Given the description of an element on the screen output the (x, y) to click on. 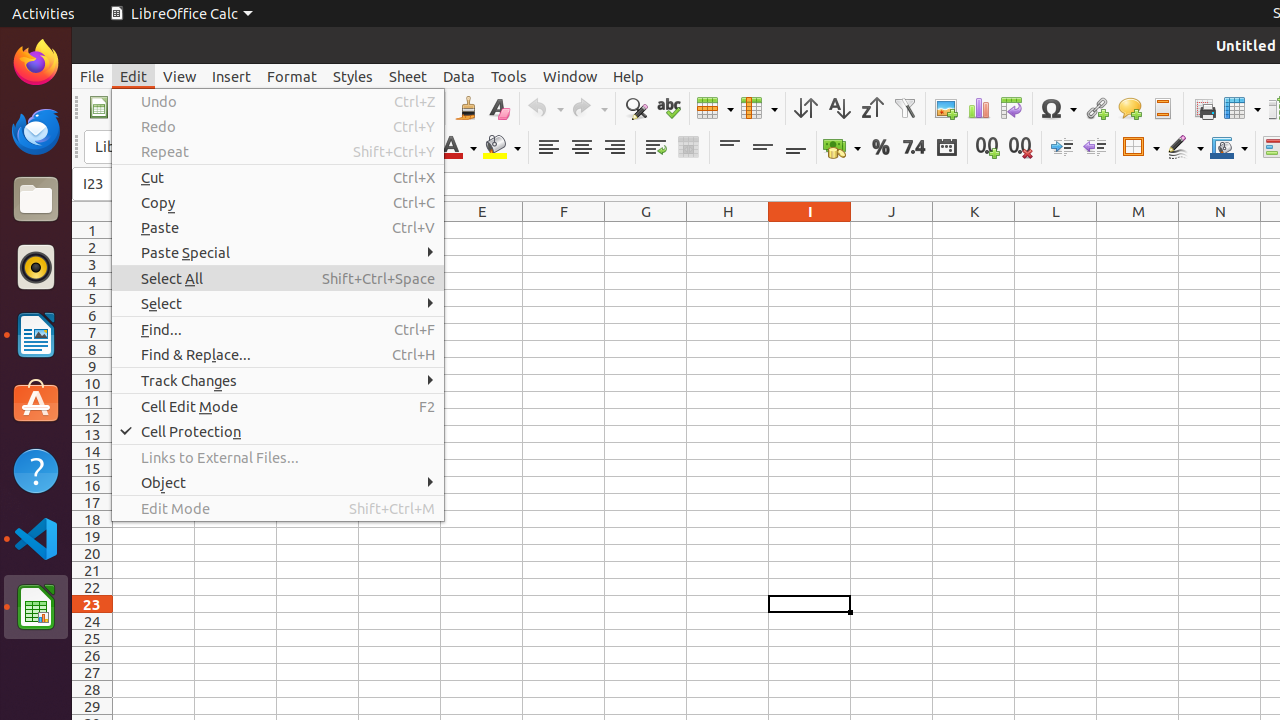
Symbol Element type: push-button (1058, 108)
Clone Element type: push-button (465, 108)
Border Color Element type: push-button (1229, 147)
View Element type: menu (179, 76)
Align Top Element type: push-button (729, 147)
